Given the description of an element on the screen output the (x, y) to click on. 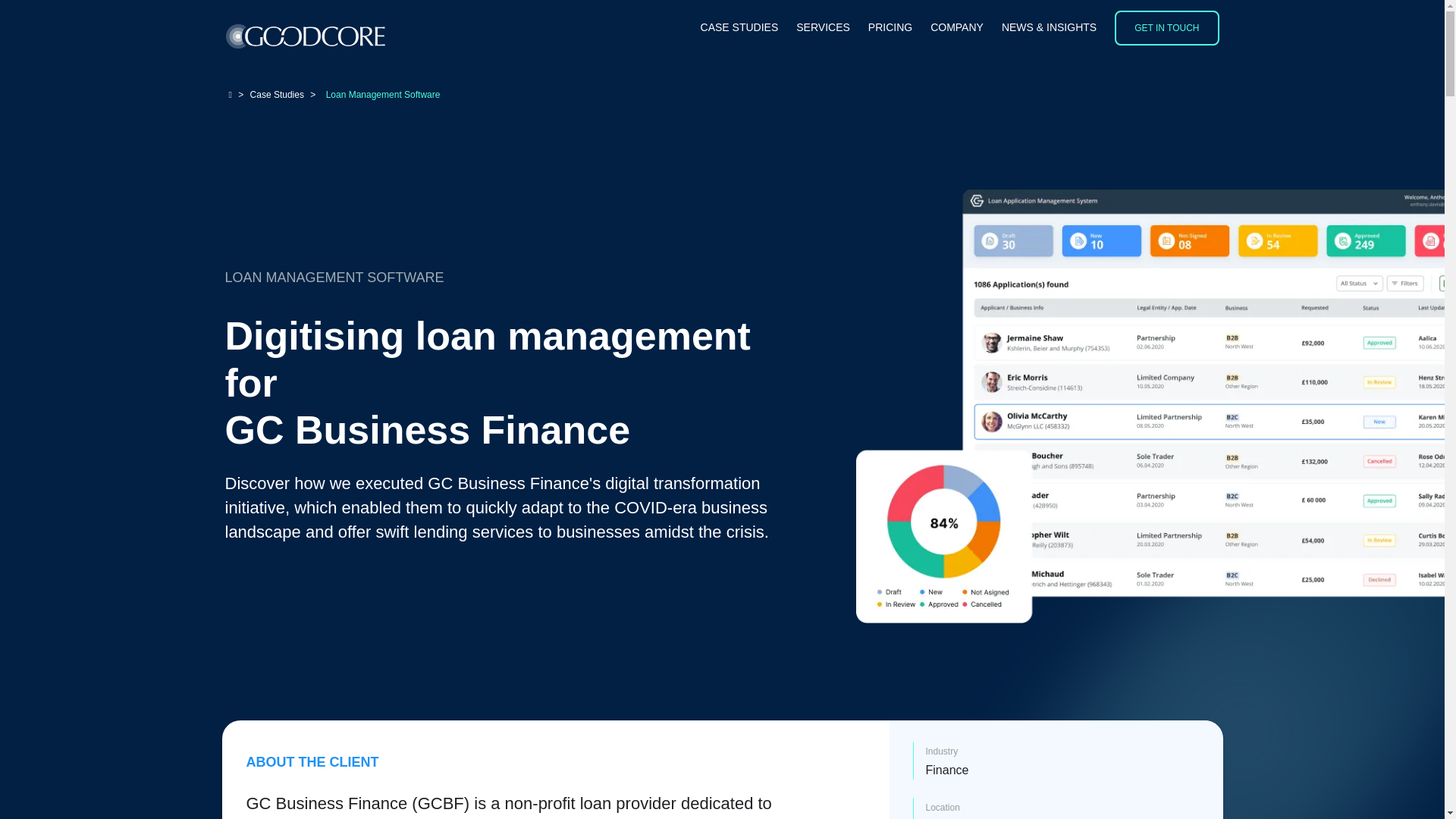
CASE STUDIES (739, 27)
COMPANY (957, 27)
Services (823, 27)
Goodcore Logo (305, 36)
Case Studies (739, 27)
Get in Touch (1166, 27)
PRICING (889, 27)
Pricing (889, 27)
SERVICES (823, 27)
Company (957, 27)
